Given the description of an element on the screen output the (x, y) to click on. 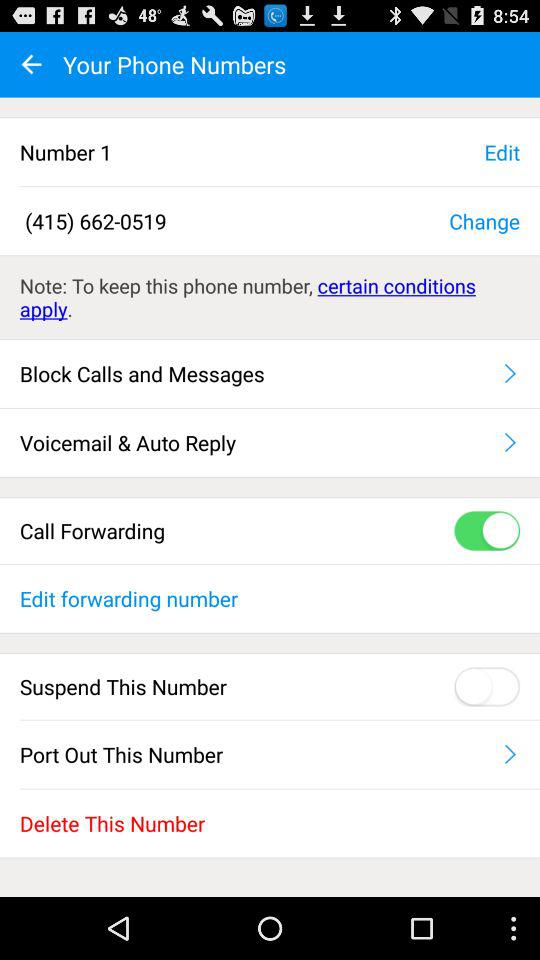
choose the edit forwarding number (269, 598)
